Given the description of an element on the screen output the (x, y) to click on. 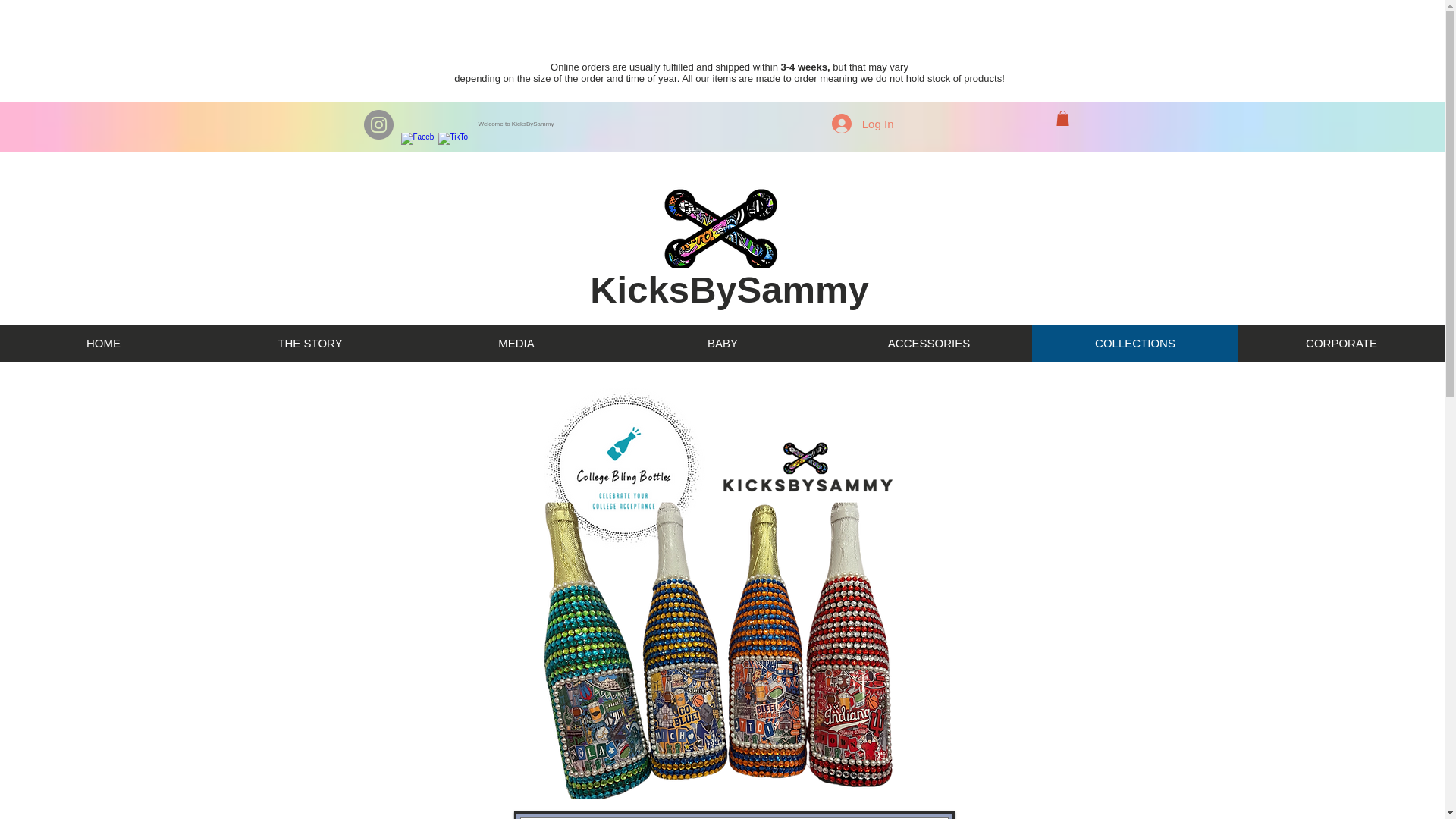
THE STORY (309, 343)
HOME (103, 343)
Log In (862, 123)
X.png (721, 648)
ACCESSORIES (928, 343)
MEDIA (516, 343)
KicksBySammy (729, 289)
BABY (722, 343)
